Given the description of an element on the screen output the (x, y) to click on. 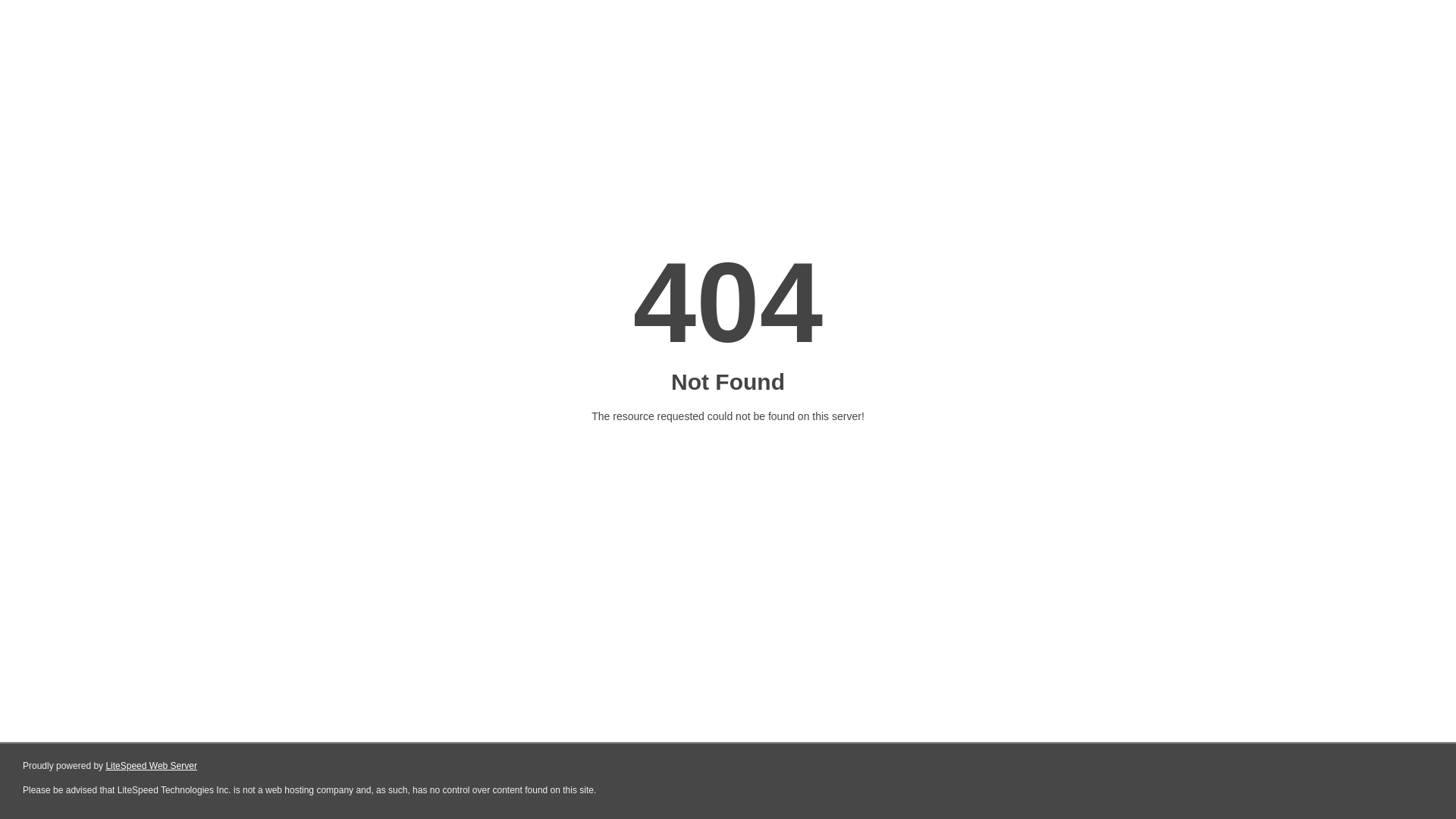
LiteSpeed Web Server Element type: text (151, 765)
